Given the description of an element on the screen output the (x, y) to click on. 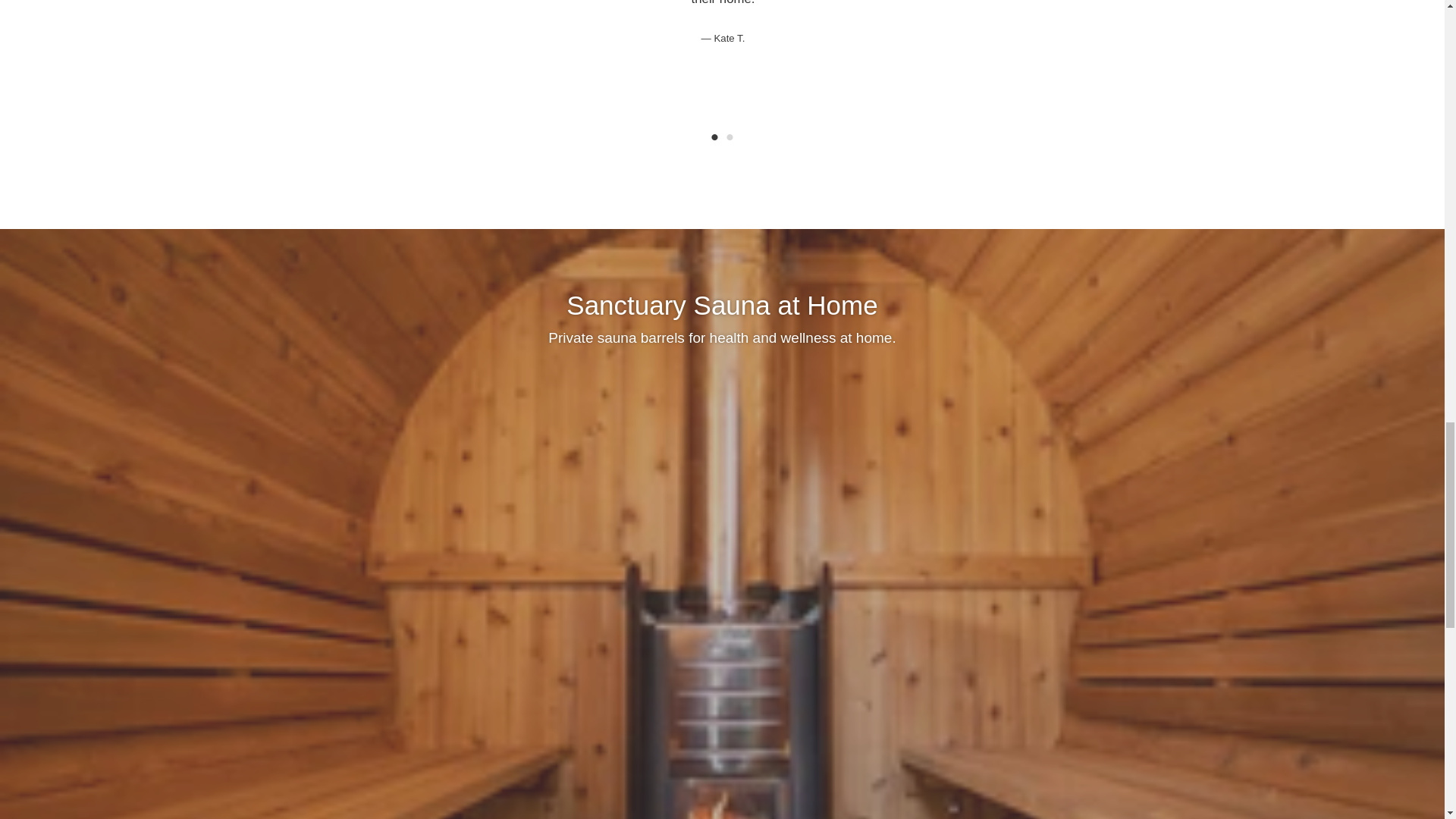
Slide 1 (714, 137)
Slide 2 (729, 137)
